Given the description of an element on the screen output the (x, y) to click on. 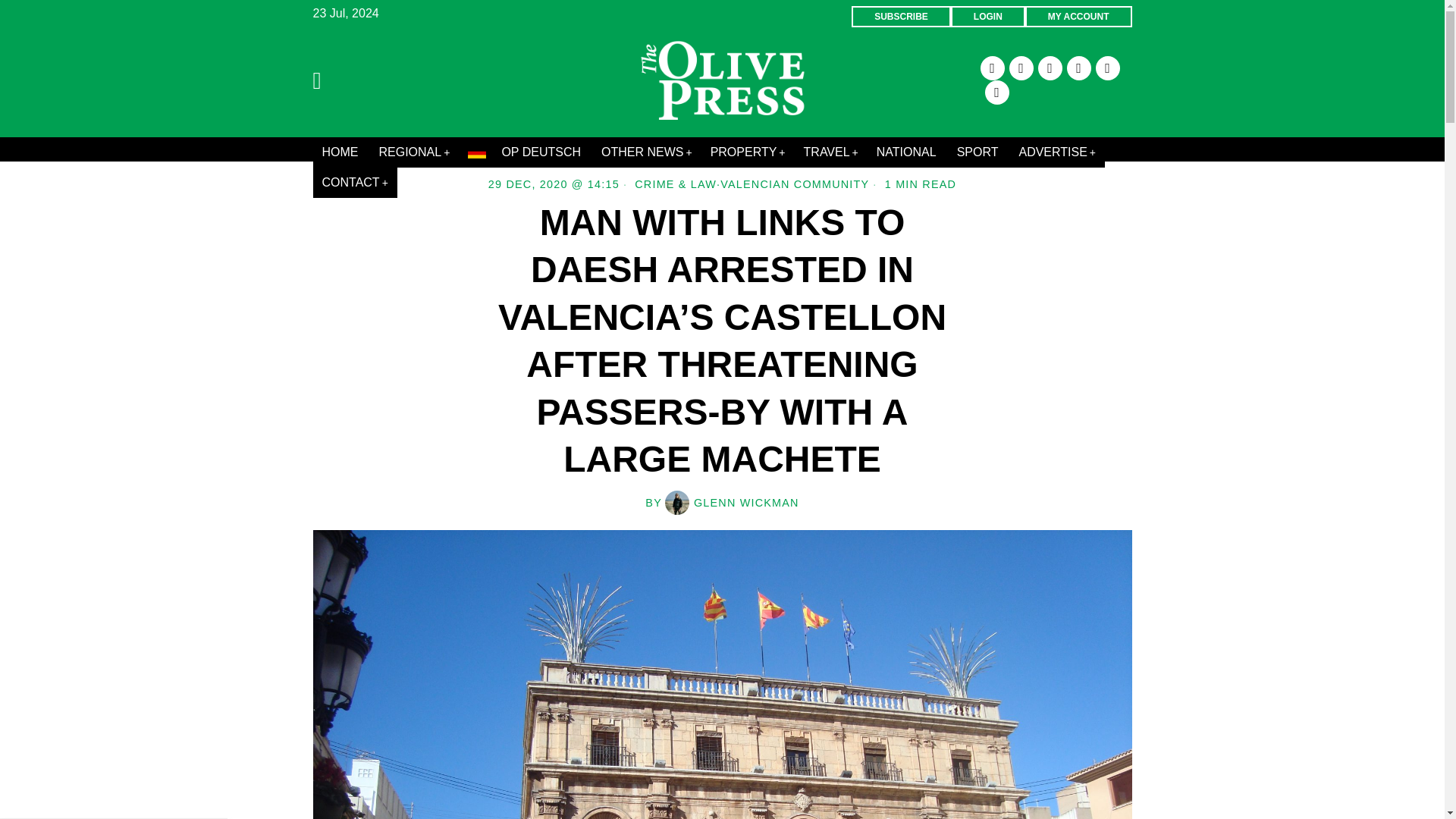
OP DEUTSCH (525, 152)
REGIONAL (414, 152)
SUBSCRIBE (900, 16)
29 Dec, 2020 14:36:15 (553, 183)
HOME (341, 152)
MY ACCOUNT (1078, 16)
PROPERTY (747, 152)
OTHER NEWS (646, 152)
LOGIN (987, 16)
